Given the description of an element on the screen output the (x, y) to click on. 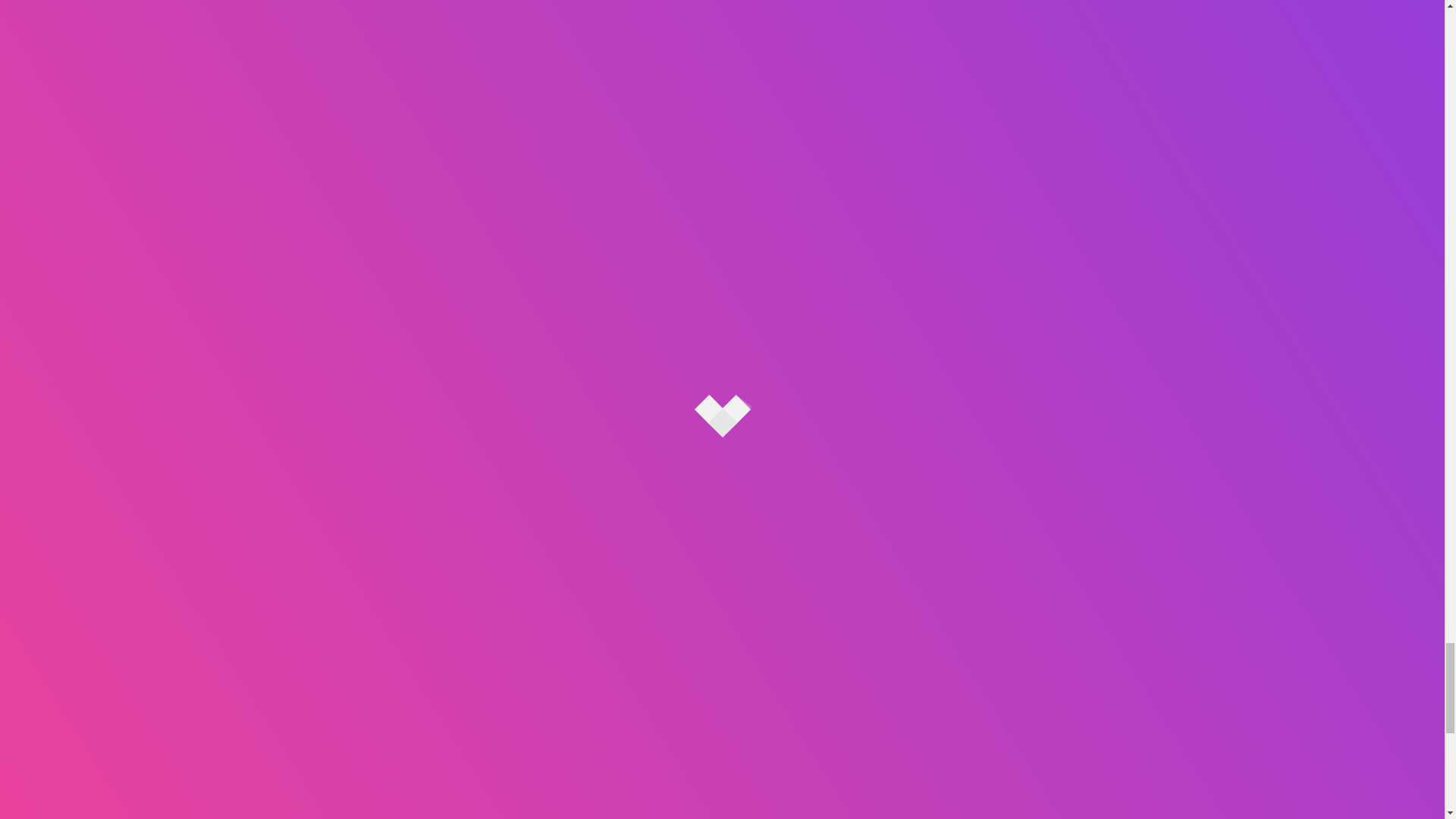
heart-icon (721, 479)
